Given the description of an element on the screen output the (x, y) to click on. 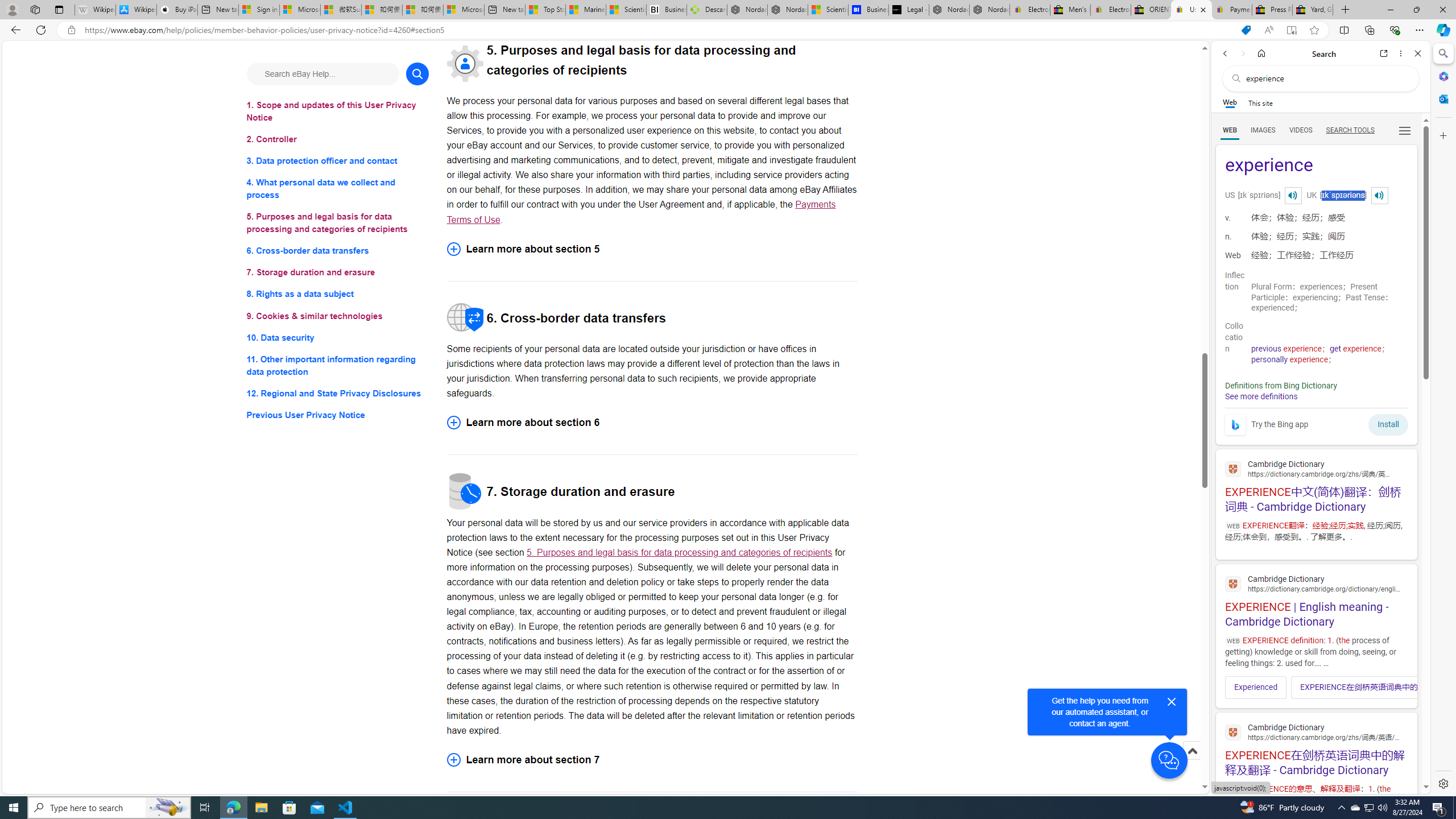
2. Controller (337, 138)
This site has coupons! Shopping in Microsoft Edge (1245, 29)
4. What personal data we collect and process (337, 189)
